Given the description of an element on the screen output the (x, y) to click on. 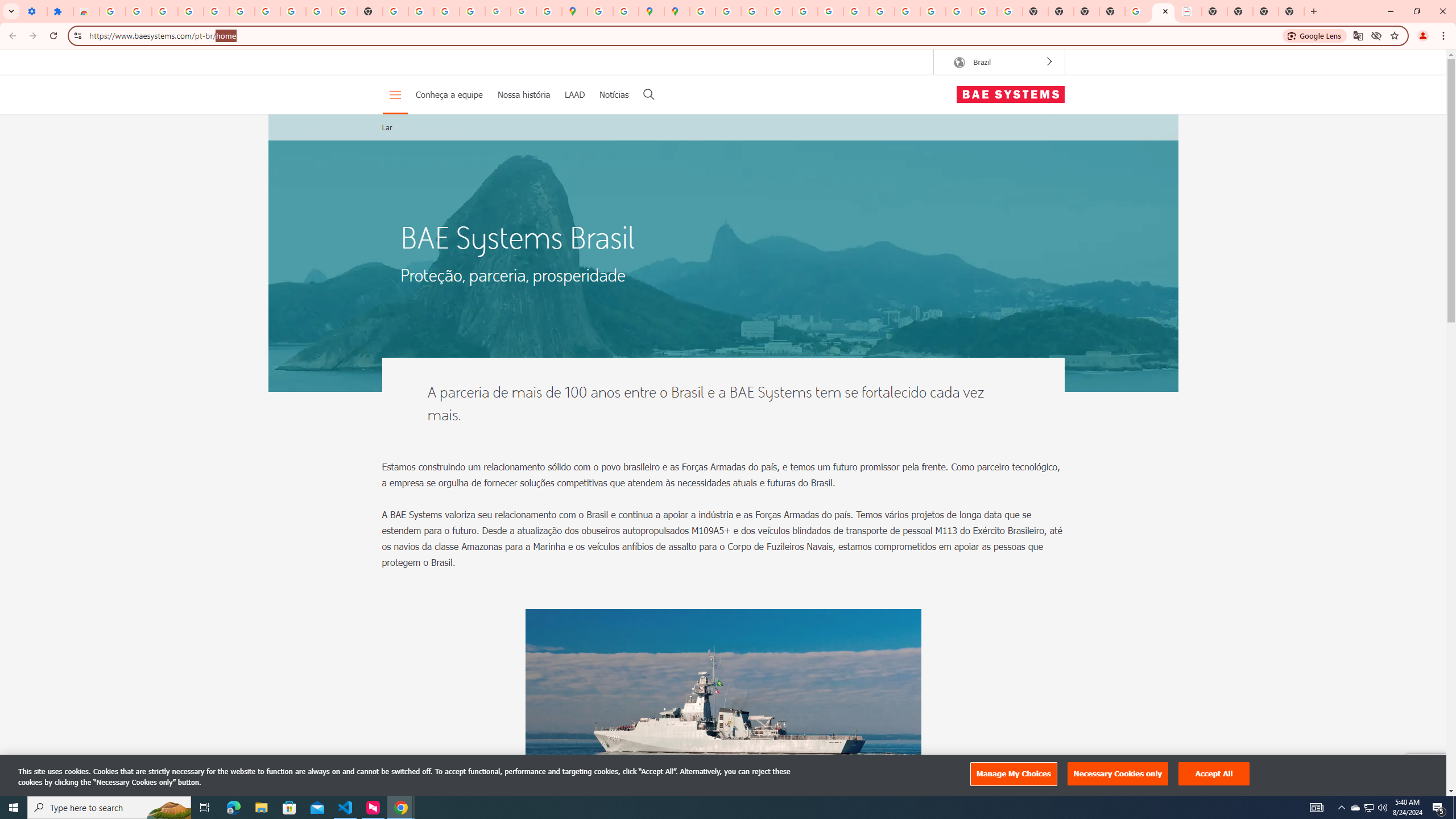
Sign in - Google Accounts (702, 11)
